Given the description of an element on the screen output the (x, y) to click on. 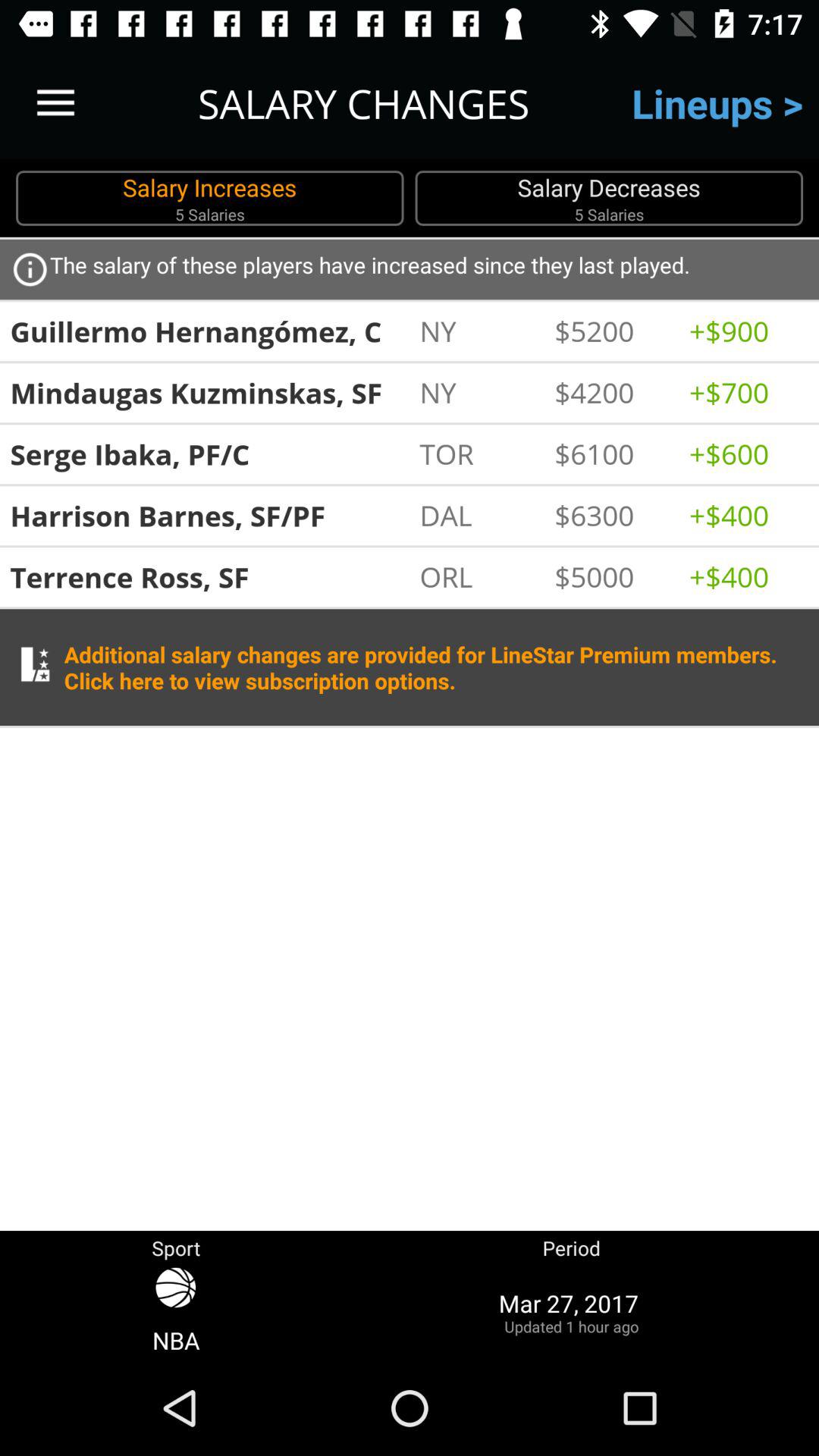
turn off the item above additional salary changes (478, 576)
